Given the description of an element on the screen output the (x, y) to click on. 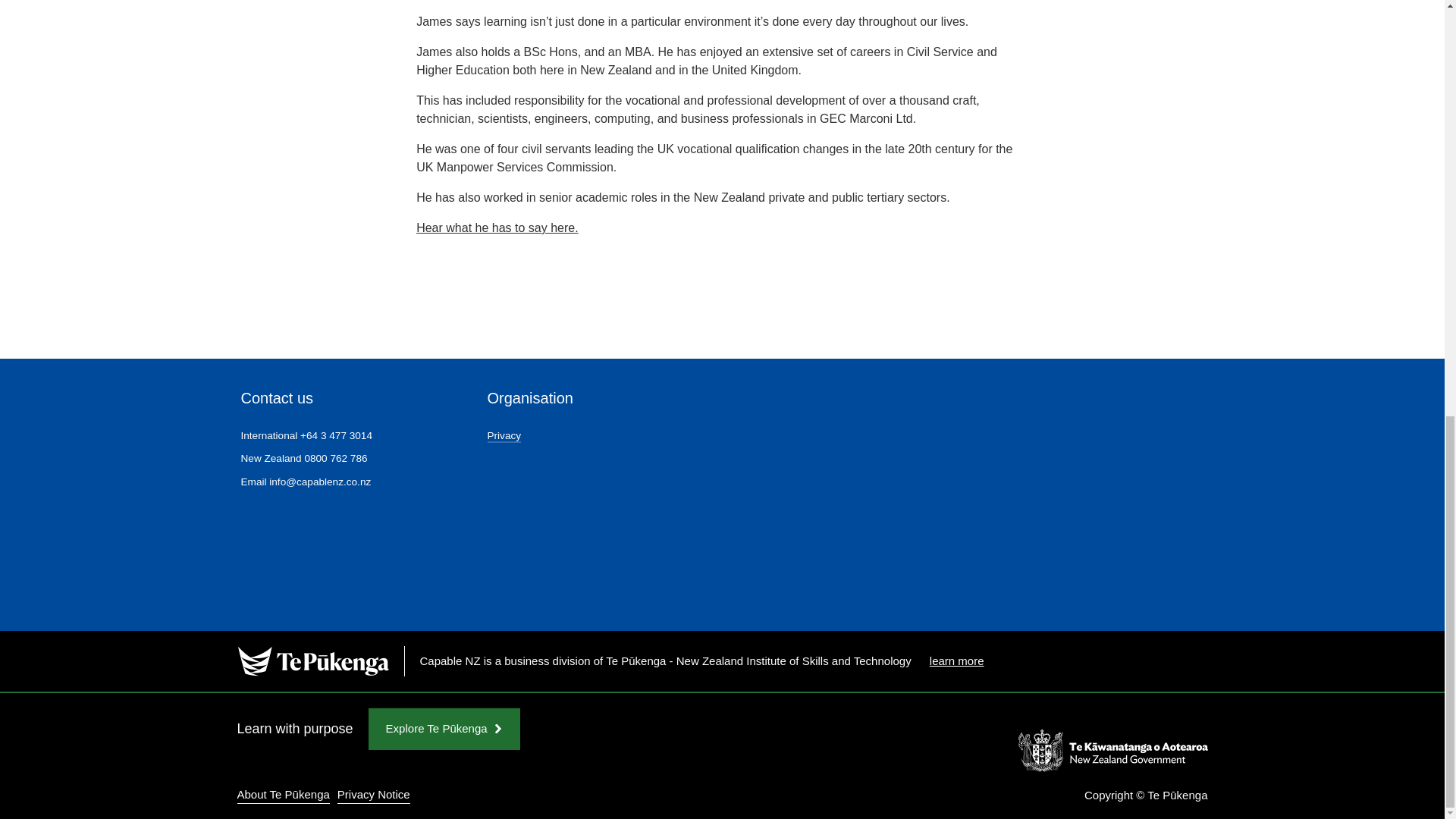
learn more (957, 660)
Hear what he has to say here. (497, 227)
0800 762 786 (335, 458)
Privacy (503, 436)
Privacy Notice (373, 795)
